Given the description of an element on the screen output the (x, y) to click on. 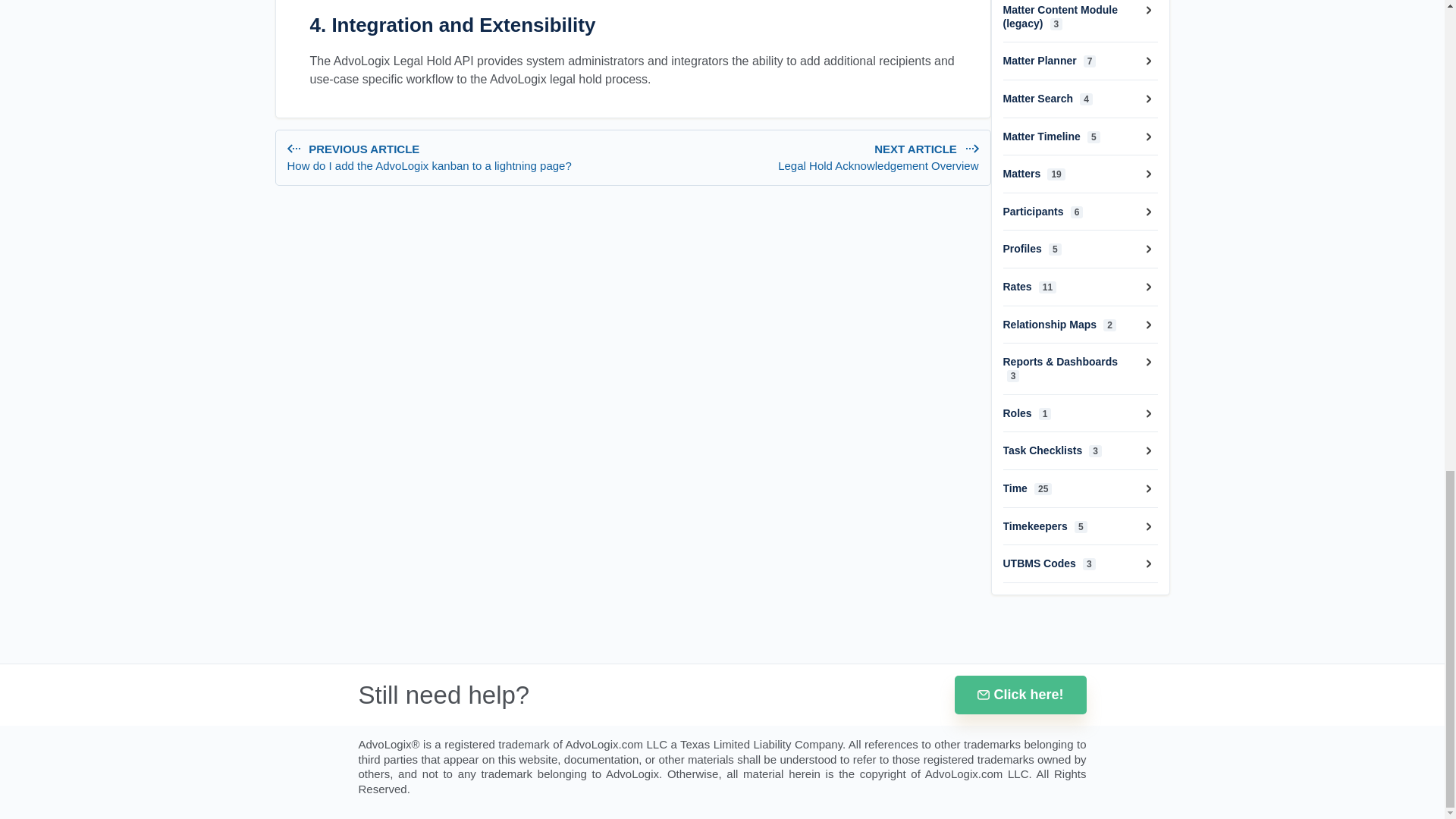
How do I add the AdvoLogix kanban to a lightning page? (456, 165)
Legal Hold Acknowledgement Overview (808, 156)
